Given the description of an element on the screen output the (x, y) to click on. 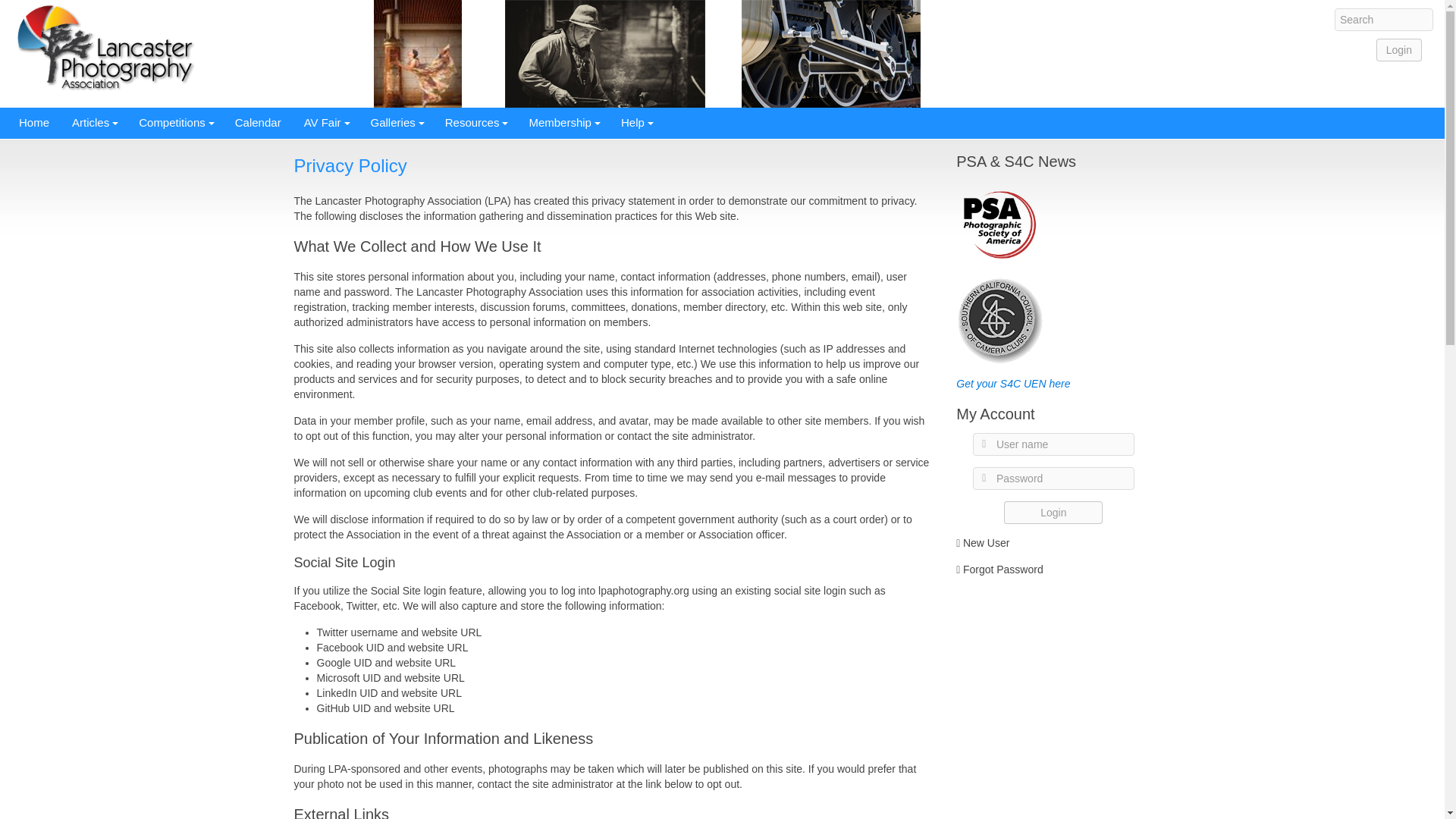
The Lancaster Photography Association (105, 49)
